Given the description of an element on the screen output the (x, y) to click on. 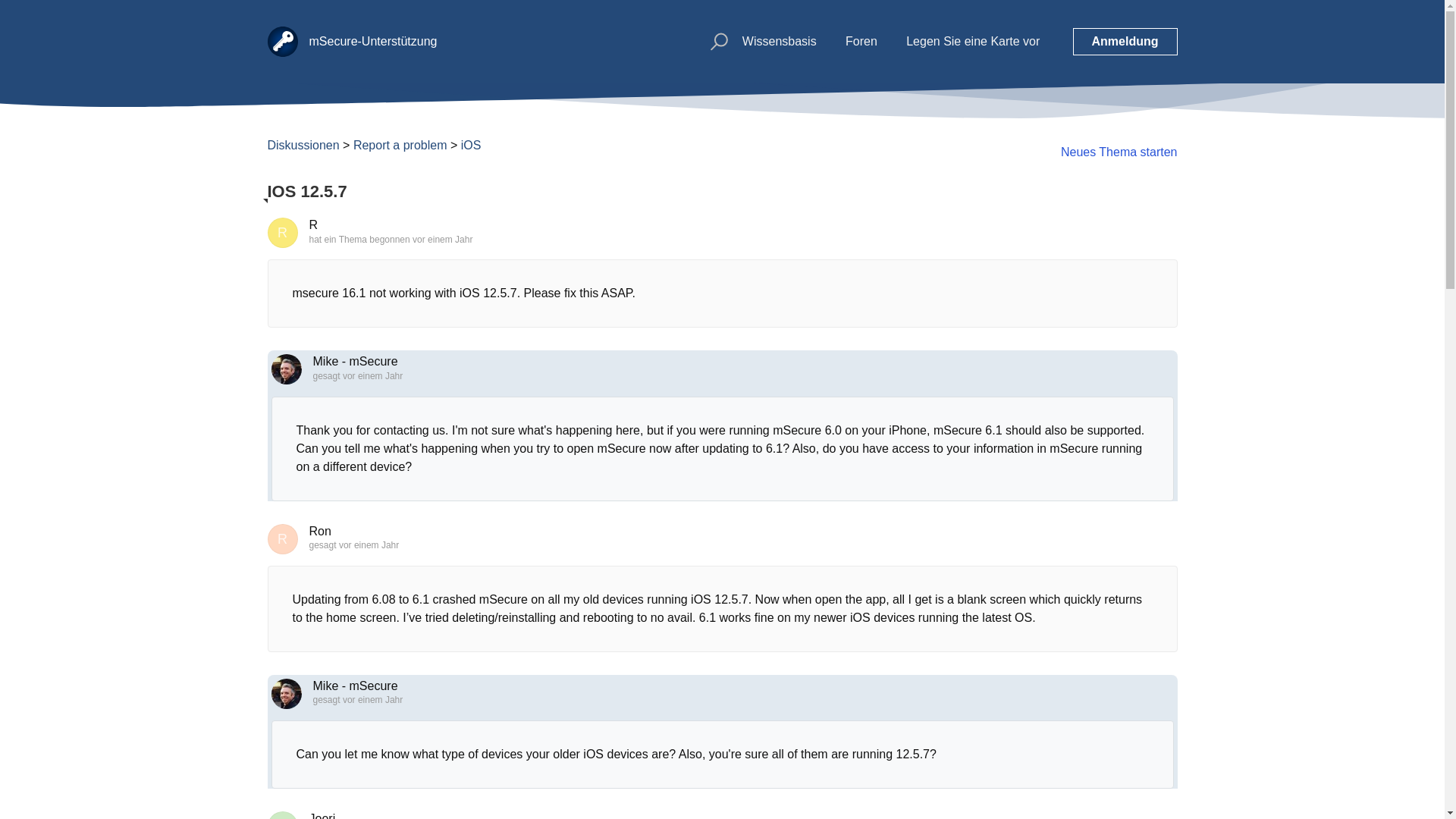
Anmeldung (1123, 41)
Neues Thema starten (1119, 151)
Legen Sie eine Karte vor (972, 41)
Neues Thema starten (1119, 151)
Do, Apr 6, 2023 um  2:52 NACHMITTAGS (441, 239)
Foren (861, 41)
Report a problem (399, 144)
Fr, Apr 7, 2023 um  6:49 VORMITTAGS (372, 376)
Fr, Apr 7, 2023 um  9:17 VORMITTAGS (368, 544)
Diskussionen (302, 144)
iOS (471, 144)
Wissensbasis (779, 41)
Fr, Apr 7, 2023 um  9:34 VORMITTAGS (372, 699)
